Given the description of an element on the screen output the (x, y) to click on. 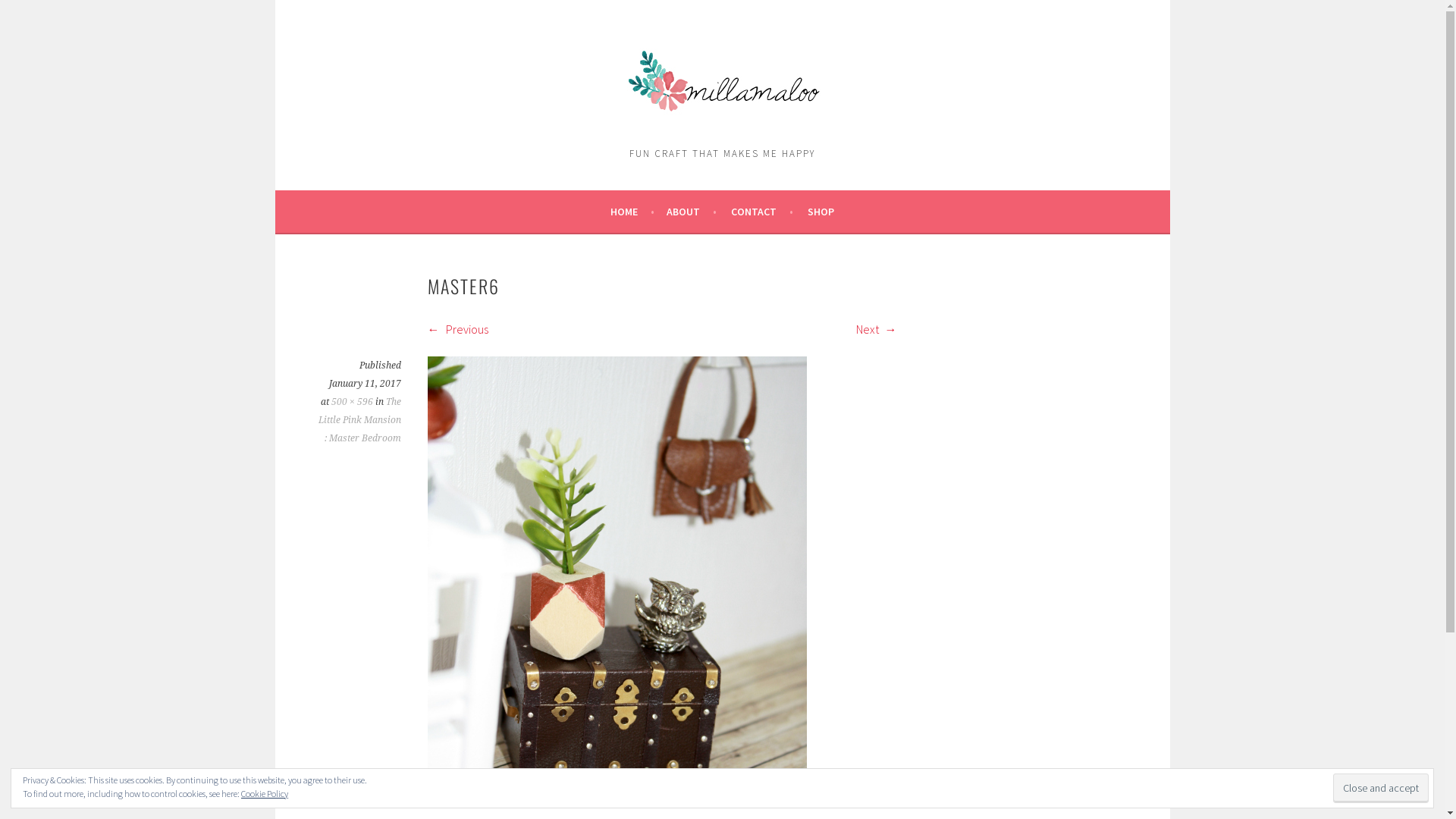
ABOUT Element type: text (691, 211)
SHOP Element type: text (820, 211)
The Little Pink Mansion : Master Bedroom Element type: text (359, 419)
HOME Element type: text (632, 211)
CONTACT Element type: text (762, 211)
Previous Element type: text (457, 328)
master6 Element type: hover (616, 803)
Close and accept Element type: text (1380, 788)
Next Element type: text (875, 328)
Cookie Policy Element type: text (264, 793)
